Given the description of an element on the screen output the (x, y) to click on. 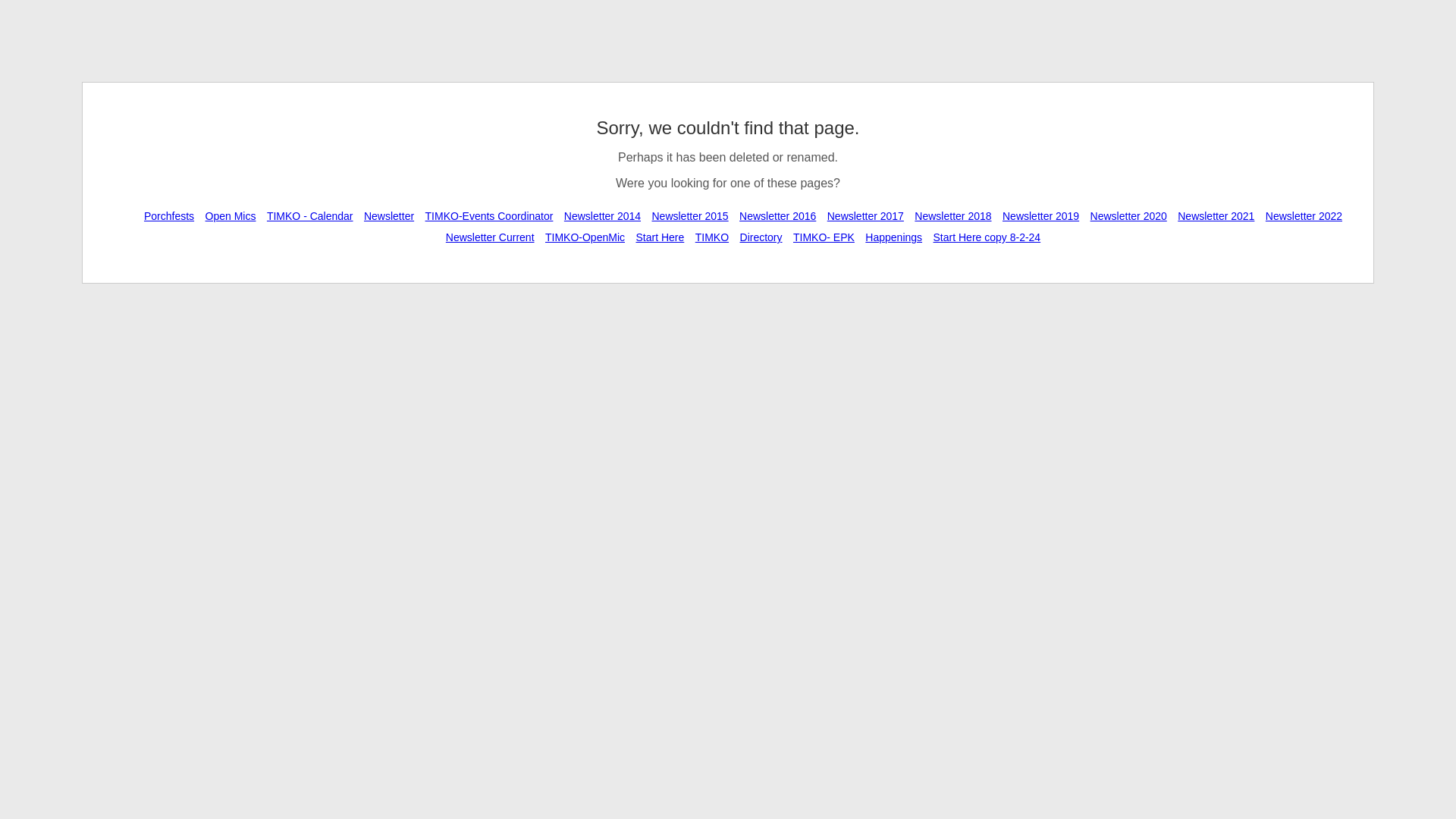
Open Mics (231, 215)
Newsletter Current (490, 236)
Happenings (893, 236)
Newsletter 2017 (865, 215)
TIMKO - Calendar (309, 215)
Newsletter 2020 (1128, 215)
Start Here (659, 236)
Newsletter (388, 215)
TIMKO-OpenMic (584, 236)
Newsletter 2019 (1040, 215)
